Given the description of an element on the screen output the (x, y) to click on. 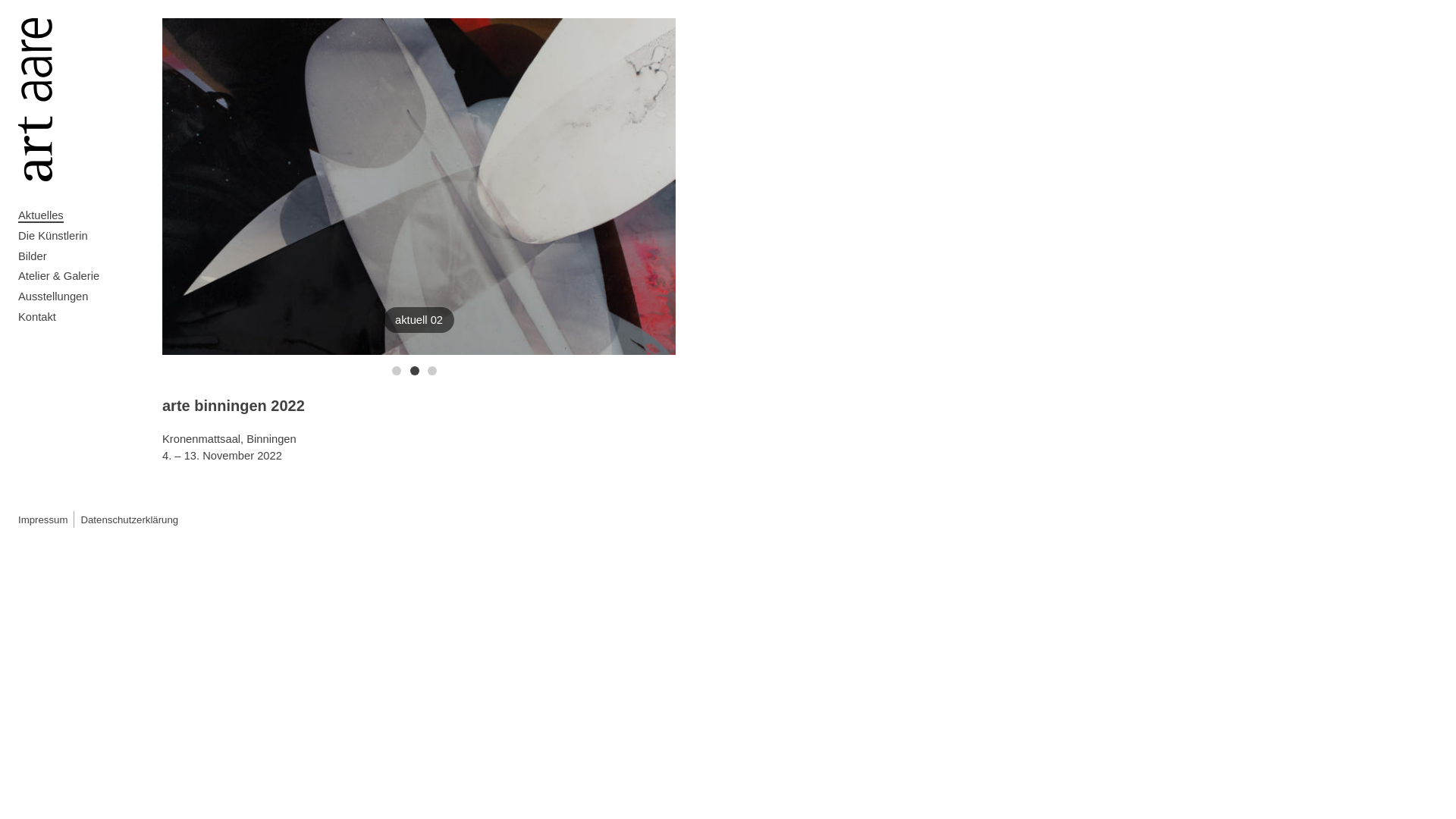
Ausstellungen Element type: text (82, 296)
2 Element type: text (414, 370)
3 Element type: text (431, 370)
Bilder Element type: text (82, 256)
Weiter zum Inhalt Element type: text (17, 17)
1 Element type: text (396, 370)
arte binningen 2022 Element type: text (233, 406)
Kontakt Element type: text (82, 317)
Aktuelles Element type: text (82, 215)
Atelier & Galerie Element type: text (82, 276)
100x150cm Element type: hover (418, 186)
Impressum Element type: text (42, 520)
